Given the description of an element on the screen output the (x, y) to click on. 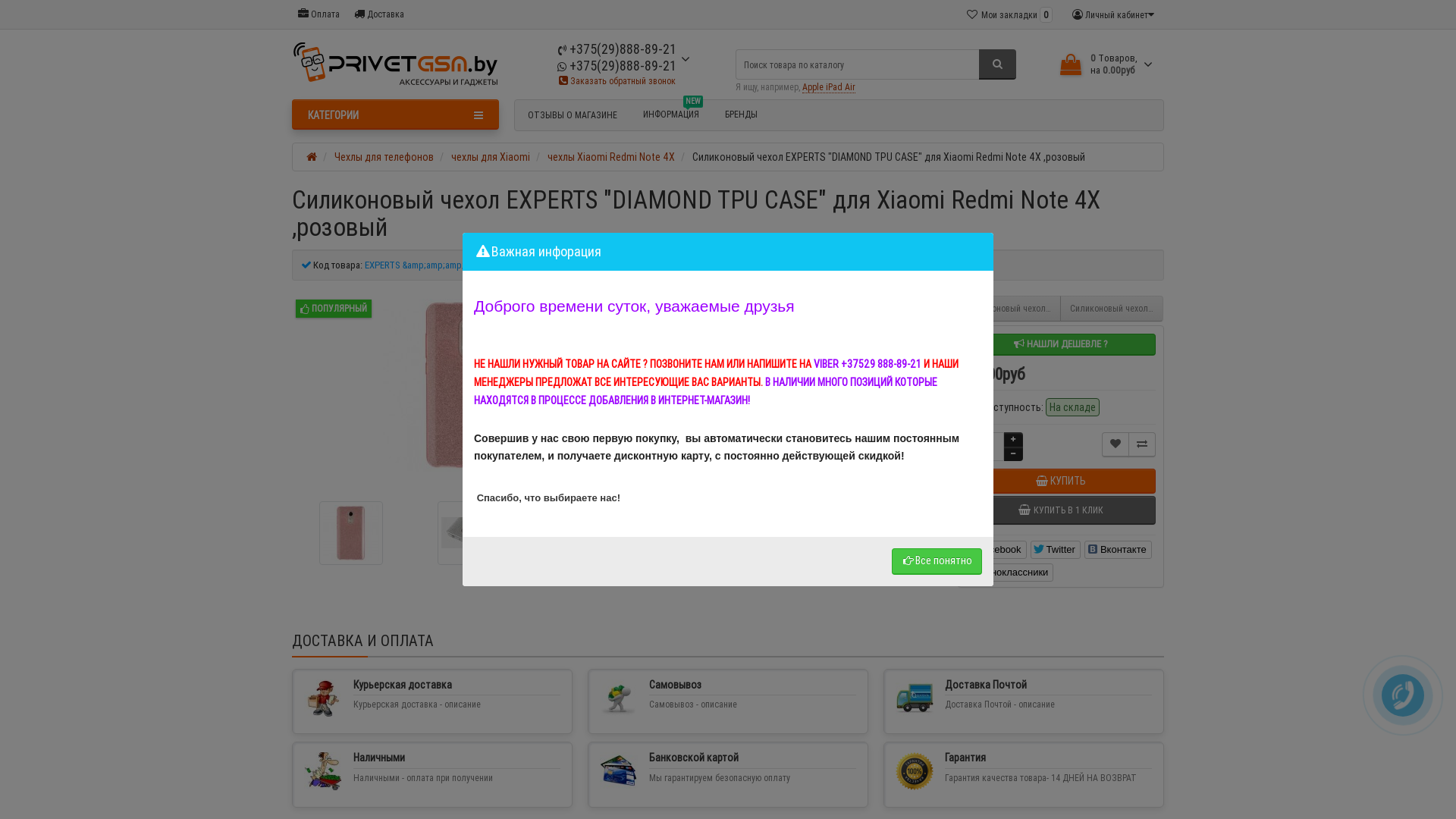
Privetgsm.by Element type: hover (394, 64)
Apple iPad Air Element type: text (828, 87)
+375(29)888-89-21 Element type: text (616, 65)
